Given the description of an element on the screen output the (x, y) to click on. 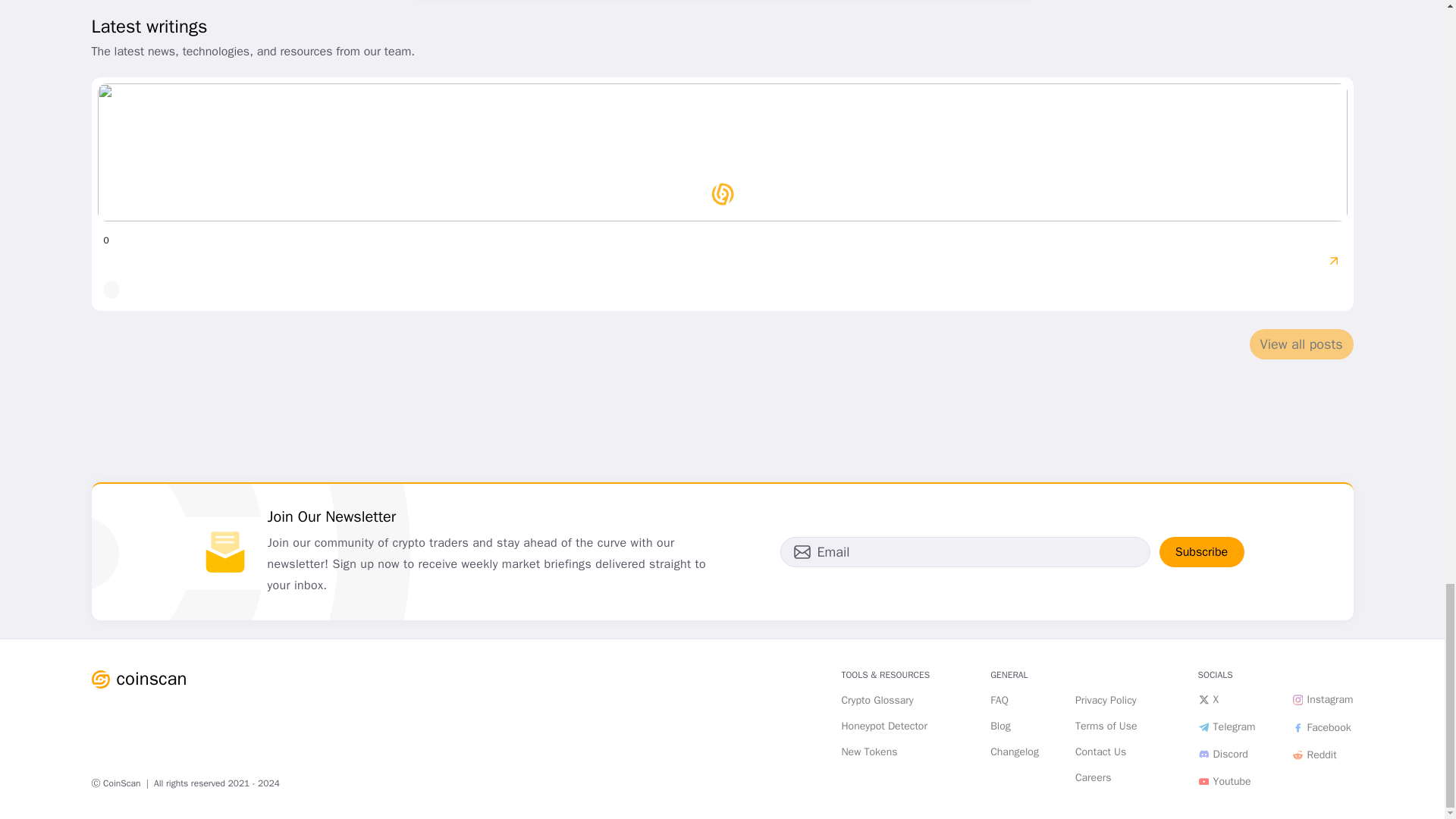
CoinScan termsOfUse (1106, 726)
CoinScan glossary (876, 700)
CoinScan honeypotDetector (884, 726)
CoinScan blog (1000, 726)
CoinScan newTokens (868, 752)
CoinScan privacyPolicy (1106, 700)
CoinScan faq (999, 700)
CoinScan changelog (1014, 752)
